Given the description of an element on the screen output the (x, y) to click on. 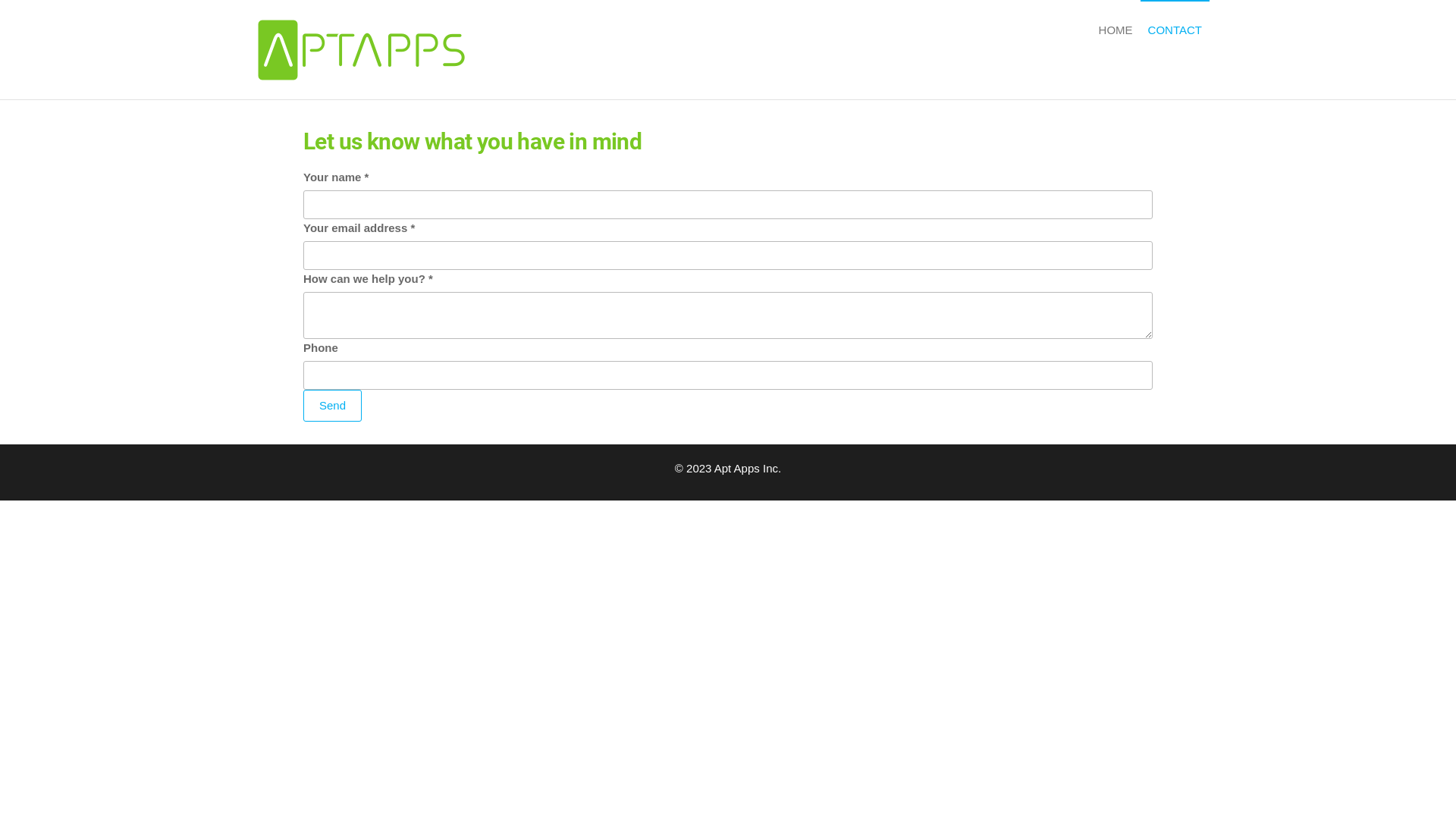
Send Element type: text (332, 405)
CONTACT Element type: text (1174, 30)
HOME Element type: text (1115, 30)
Apt Apps Element type: text (502, 73)
